Given the description of an element on the screen output the (x, y) to click on. 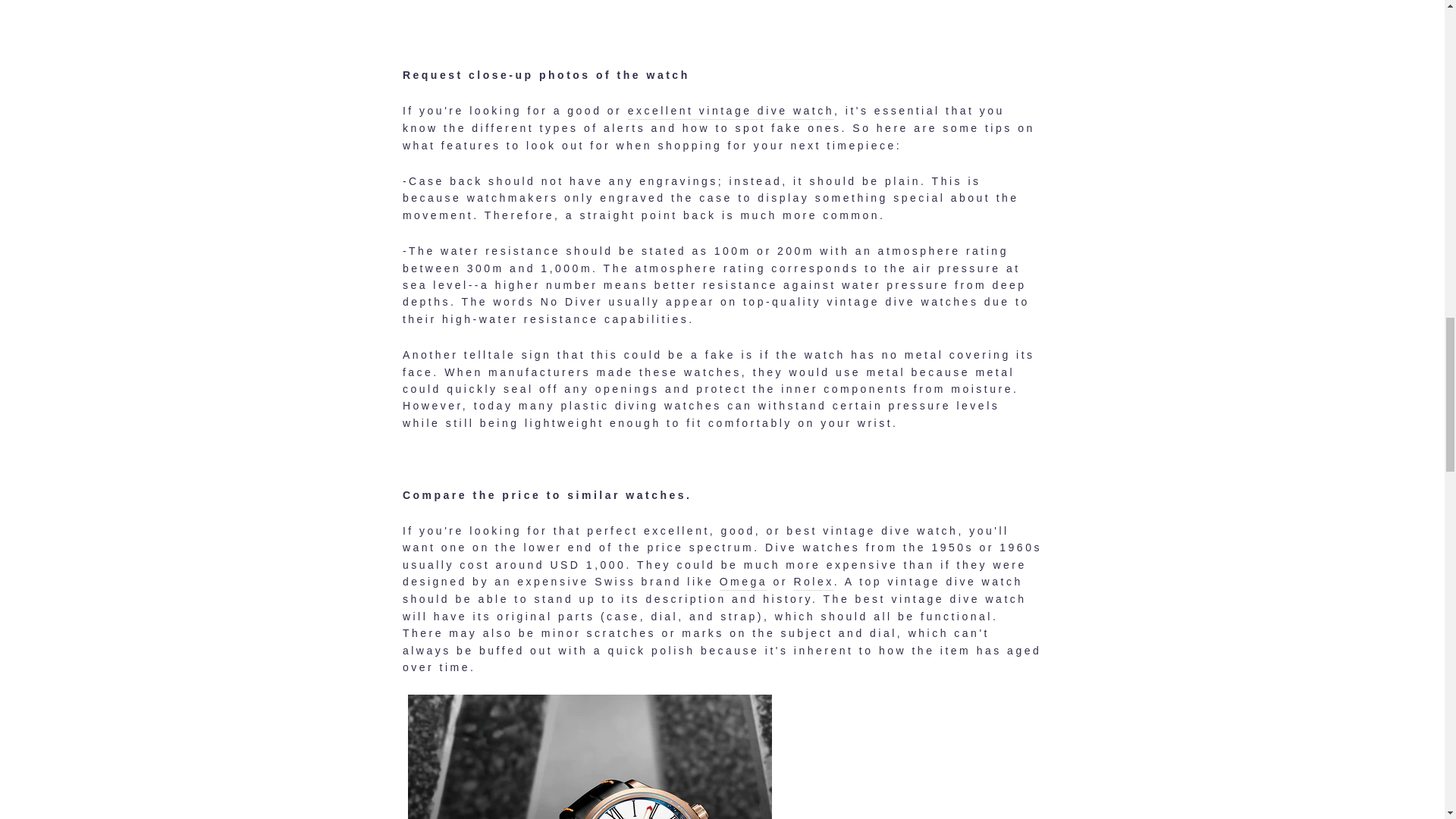
2Jewellery Men's Dress Watch (722, 23)
Rolex (812, 581)
excellent vintage dive watch (730, 110)
Omega (743, 581)
